Given the description of an element on the screen output the (x, y) to click on. 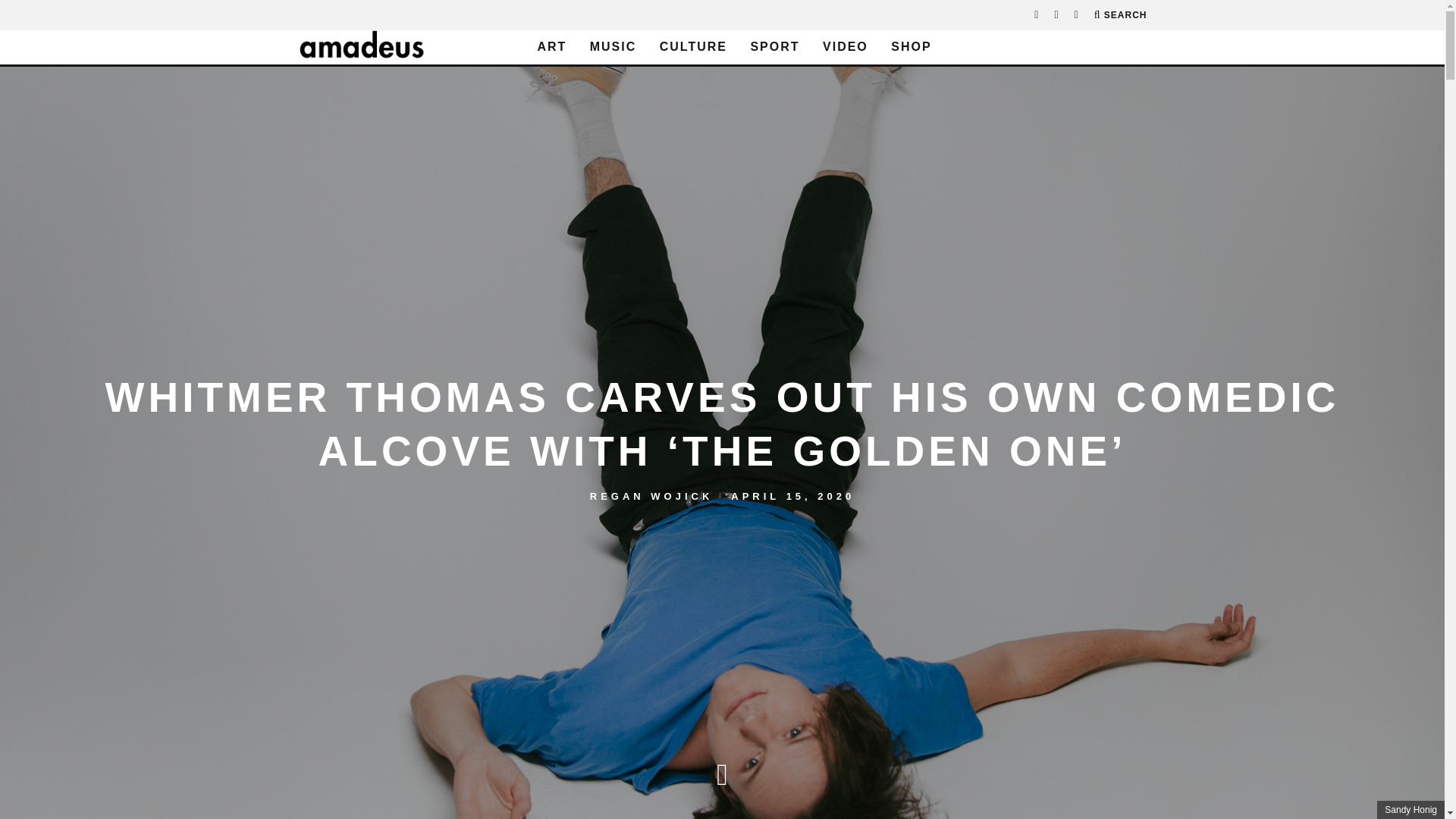
ART (551, 47)
MUSIC (613, 47)
Search (1120, 15)
SEARCH (1120, 15)
SPORT (774, 47)
VIDEO (845, 47)
SHOP (911, 47)
REGAN WOJICK (651, 495)
Log In (721, 422)
CULTURE (693, 47)
